Given the description of an element on the screen output the (x, y) to click on. 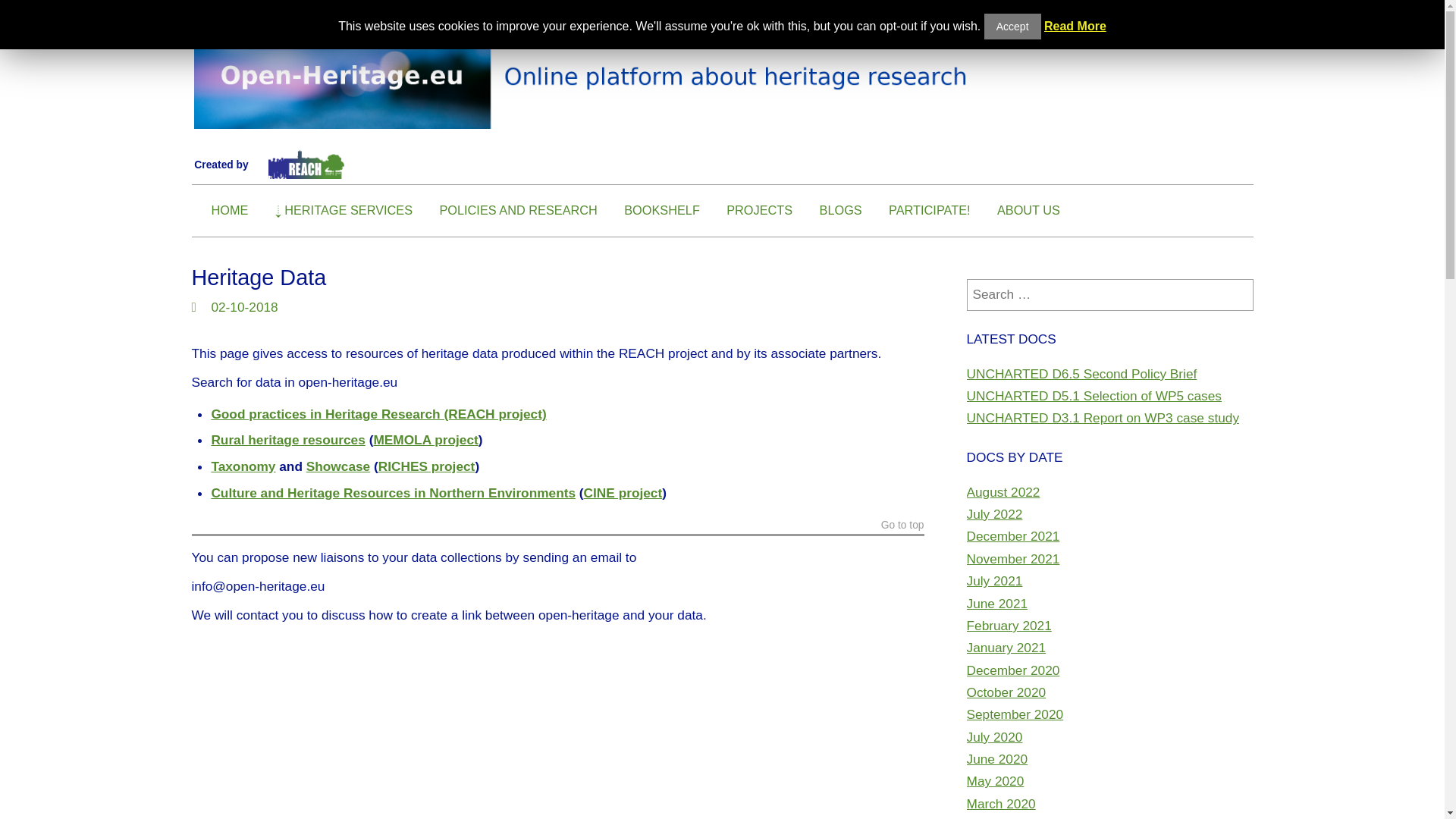
UNCHARTED D6.5 Second Policy Brief (1081, 373)
Culture and Heritage Resources in Northern Environments (393, 492)
02-10-2018 (244, 306)
Go to top (902, 527)
CINE project (622, 492)
BOOKSHELF (662, 210)
HOME (229, 210)
UNCHARTED D5.1 Selection of WP5 cases (1093, 395)
RICHES project (427, 466)
PROJECTS (759, 210)
